Given the description of an element on the screen output the (x, y) to click on. 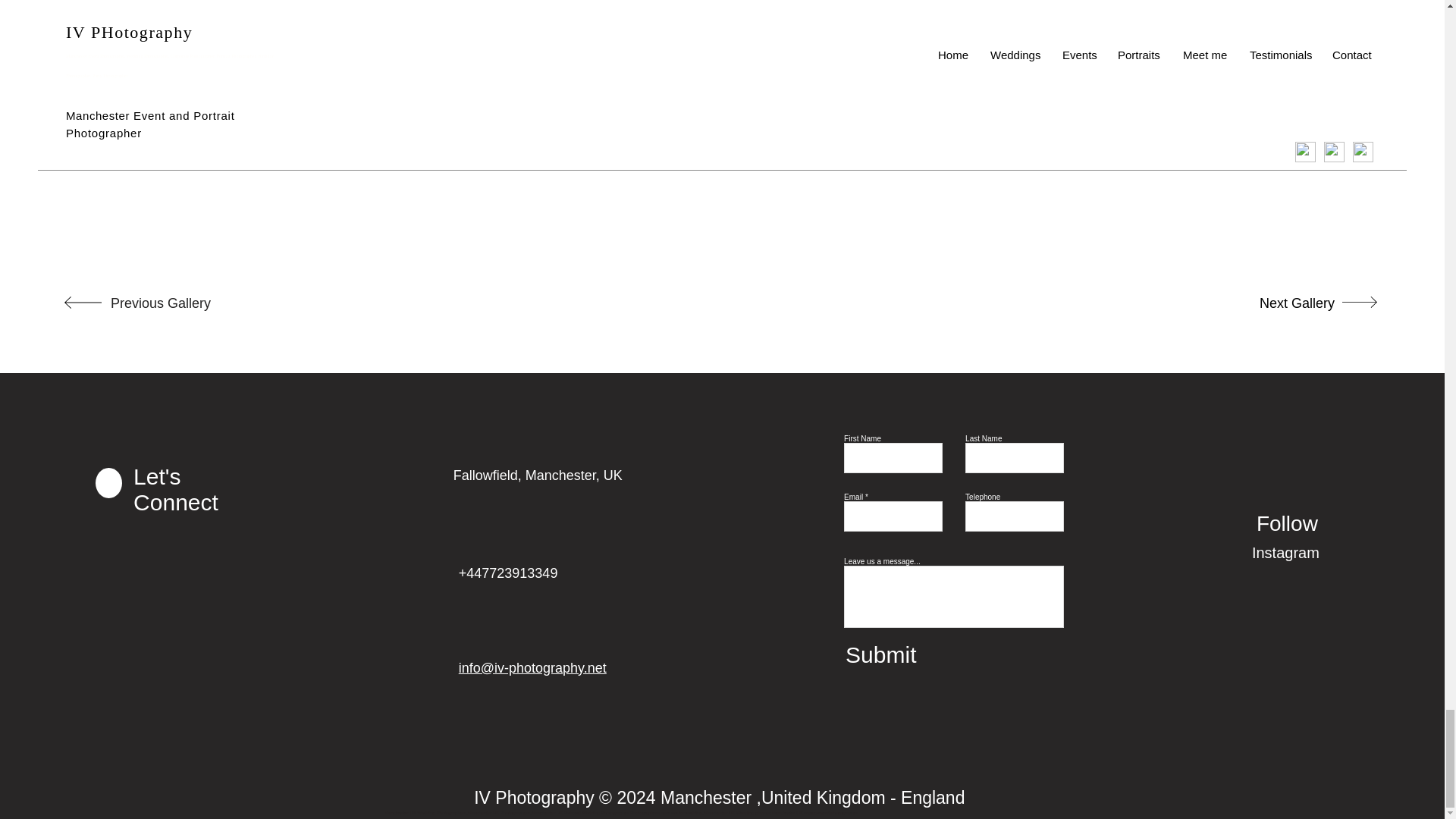
Previous Gallery (160, 304)
Next Gallery (1284, 304)
Instagram (1305, 552)
Submit (949, 654)
